Given the description of an element on the screen output the (x, y) to click on. 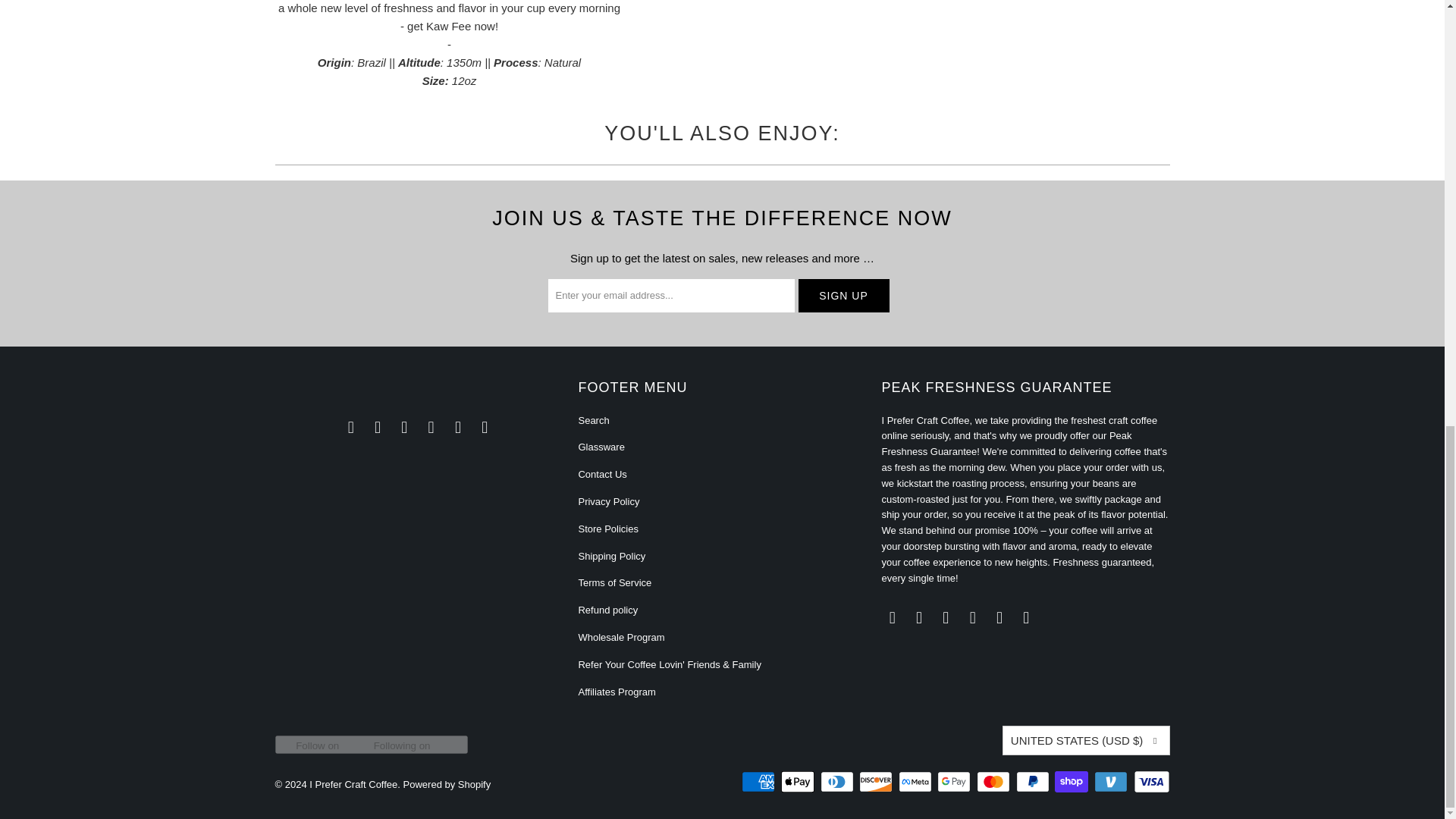
Sign Up (842, 295)
Visa (1150, 781)
Google Pay (955, 781)
Discover (877, 781)
American Express (759, 781)
Shop Pay (1072, 781)
Meta Pay (916, 781)
Apple Pay (798, 781)
PayPal (1034, 781)
Venmo (1112, 781)
Mastercard (994, 781)
Diners Club (839, 781)
